Given the description of an element on the screen output the (x, y) to click on. 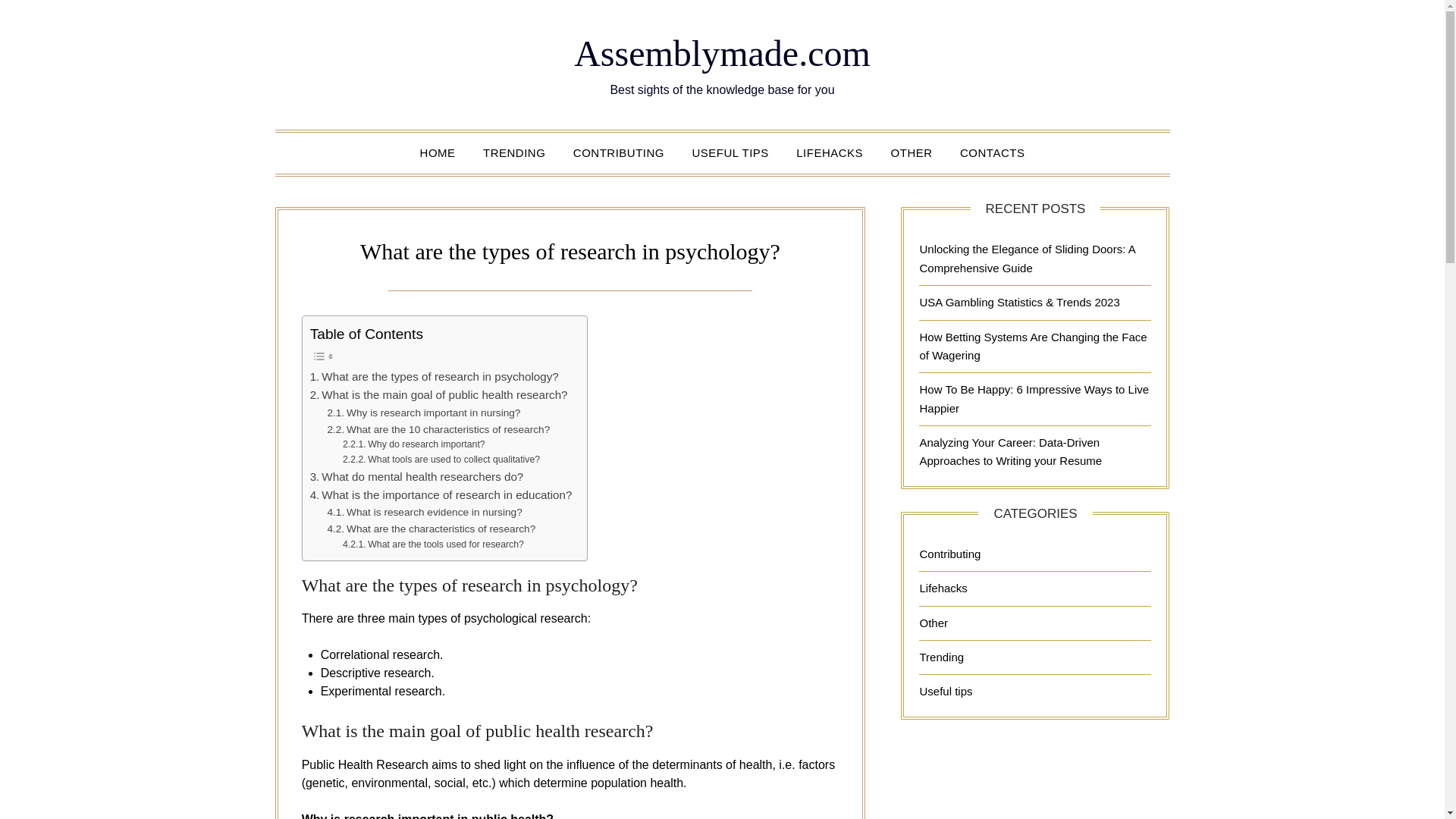
Assemblymade.com (721, 53)
How Betting Systems Are Changing the Face of Wagering (1032, 345)
What do mental health researchers do? (417, 476)
What is the importance of research in education? (441, 495)
Why is research important in nursing? (422, 412)
CONTRIBUTING (618, 152)
What tools are used to collect qualitative? (441, 459)
What is the importance of research in education? (441, 495)
How To Be Happy: 6 Impressive Ways to Live Happier (1033, 398)
LIFEHACKS (829, 152)
What are the tools used for research? (433, 544)
What are the 10 characteristics of research? (438, 429)
What are the types of research in psychology? (434, 376)
What is the main goal of public health research? (438, 394)
